Given the description of an element on the screen output the (x, y) to click on. 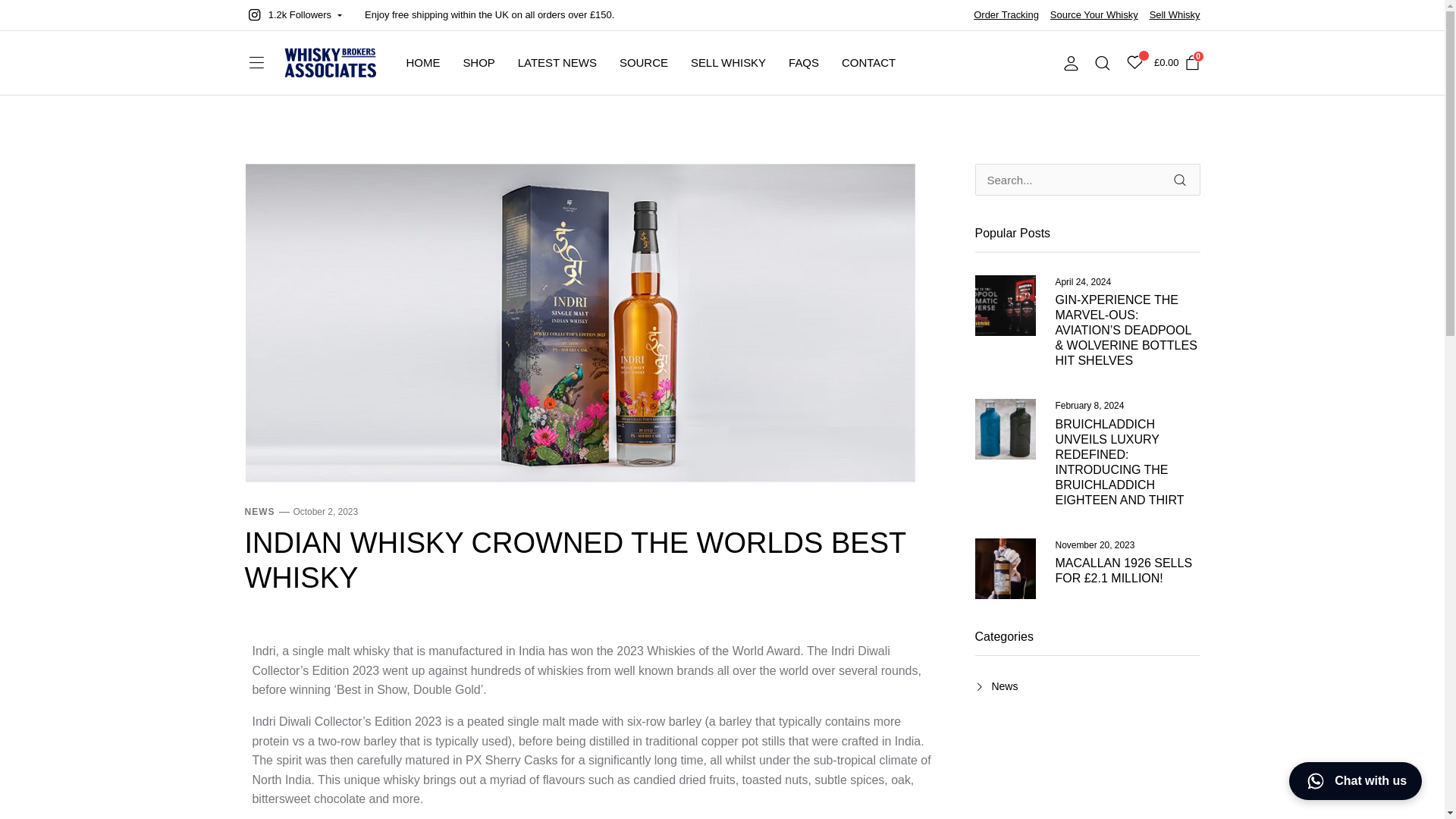
LATEST NEWS (557, 63)
INDIAN WHISKY CROWNED THE WORLDS BEST WHISKY  (574, 560)
October 2, 2023 (325, 511)
November 20, 2023 (1095, 545)
NEWS (259, 511)
Source Your Whisky (1093, 15)
Whisky Brokers Associates (329, 62)
Order Tracking (1006, 15)
News (996, 686)
SELL WHISKY (727, 63)
1.2k Followers (293, 15)
Sell Whisky (1174, 15)
February 8, 2024 (1089, 405)
April 24, 2024 (1083, 282)
